Given the description of an element on the screen output the (x, y) to click on. 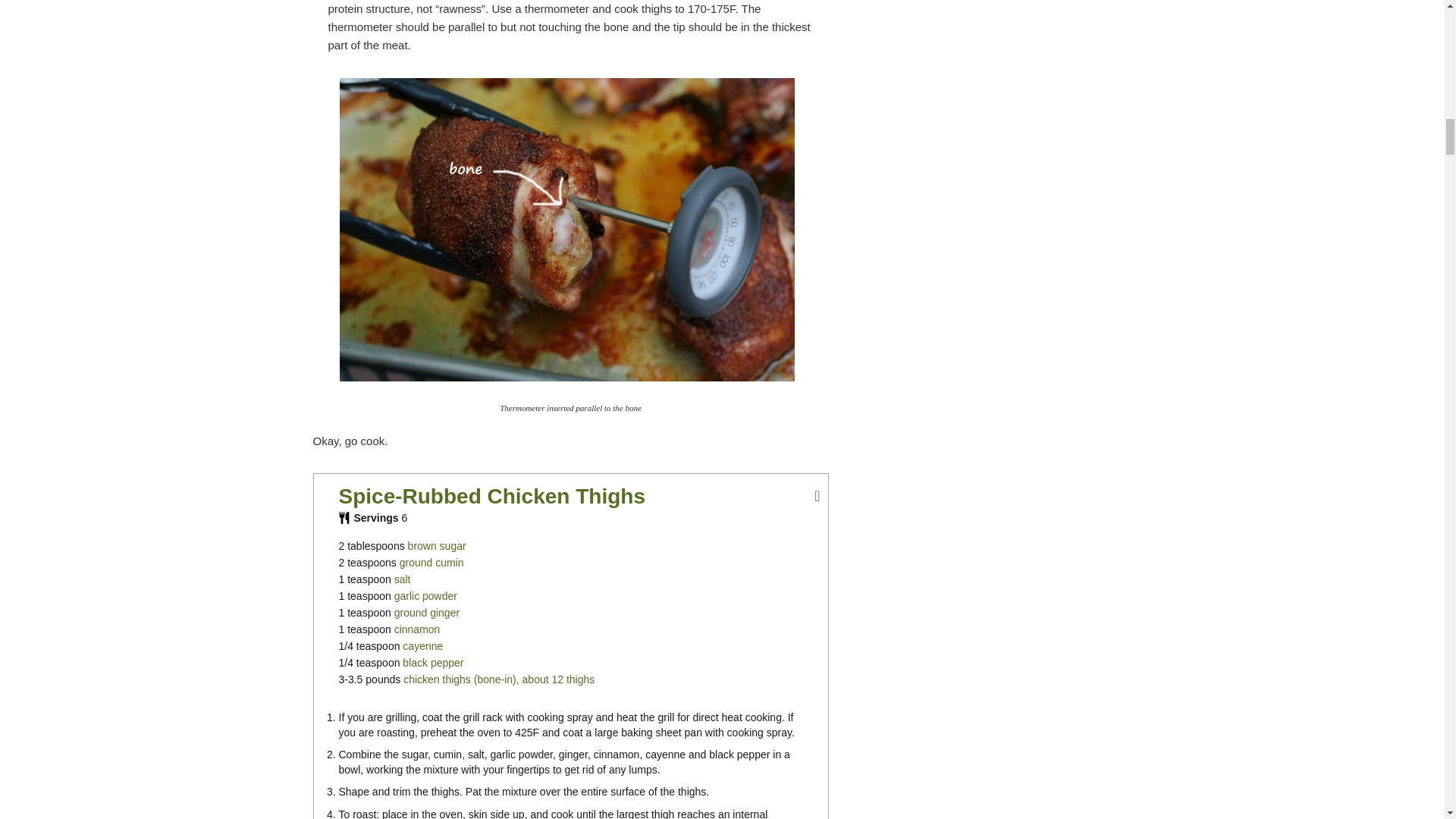
salt (402, 579)
ground ginger (427, 612)
cinnamon (417, 629)
black pepper (433, 662)
ground cumin (431, 562)
cayenne (422, 645)
brown sugar (436, 545)
garlic powder (425, 595)
